Given the description of an element on the screen output the (x, y) to click on. 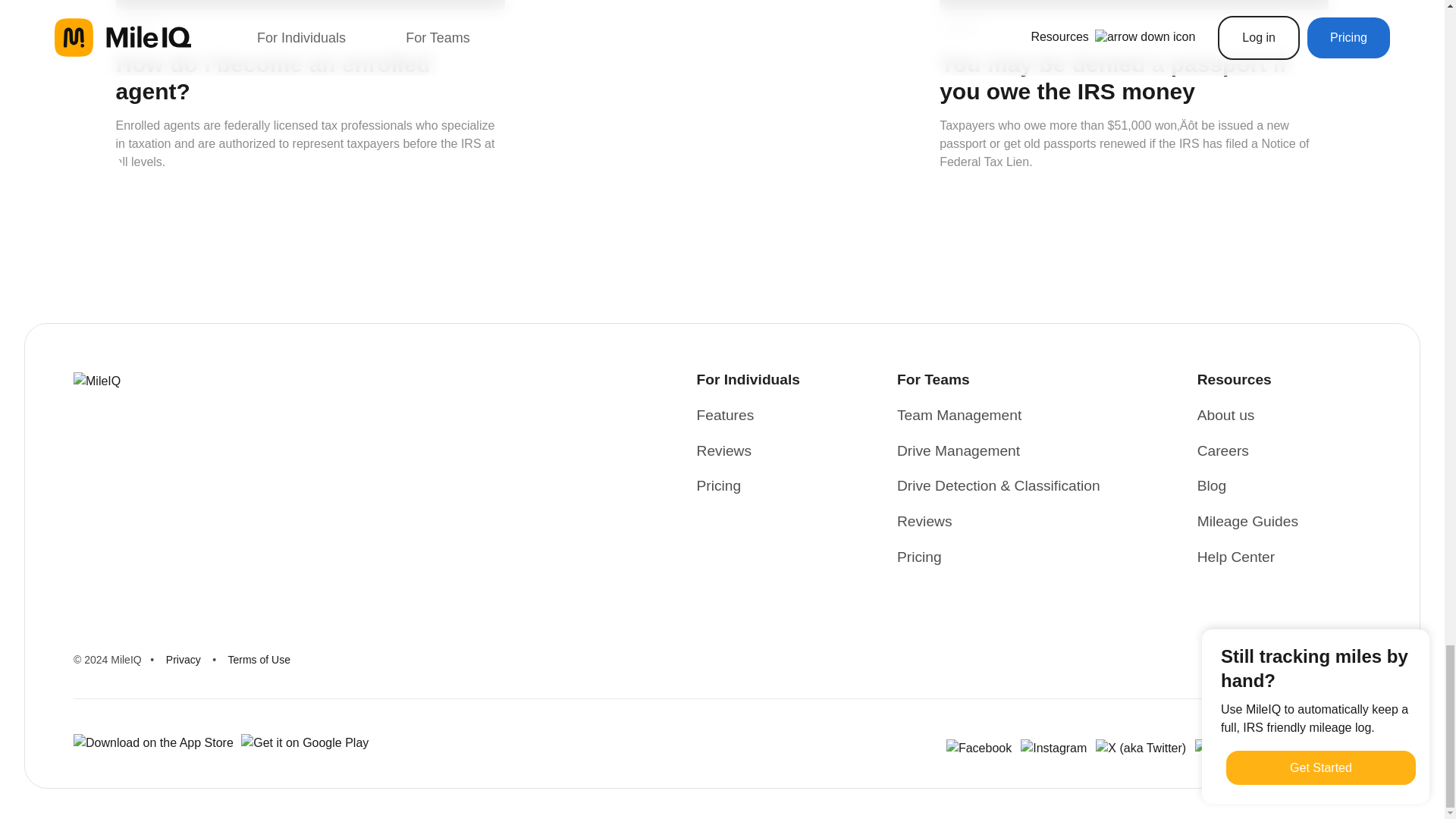
Team Management (959, 415)
Pricing (719, 486)
Features (725, 415)
Reviews (724, 451)
Drive Management (958, 451)
